Given the description of an element on the screen output the (x, y) to click on. 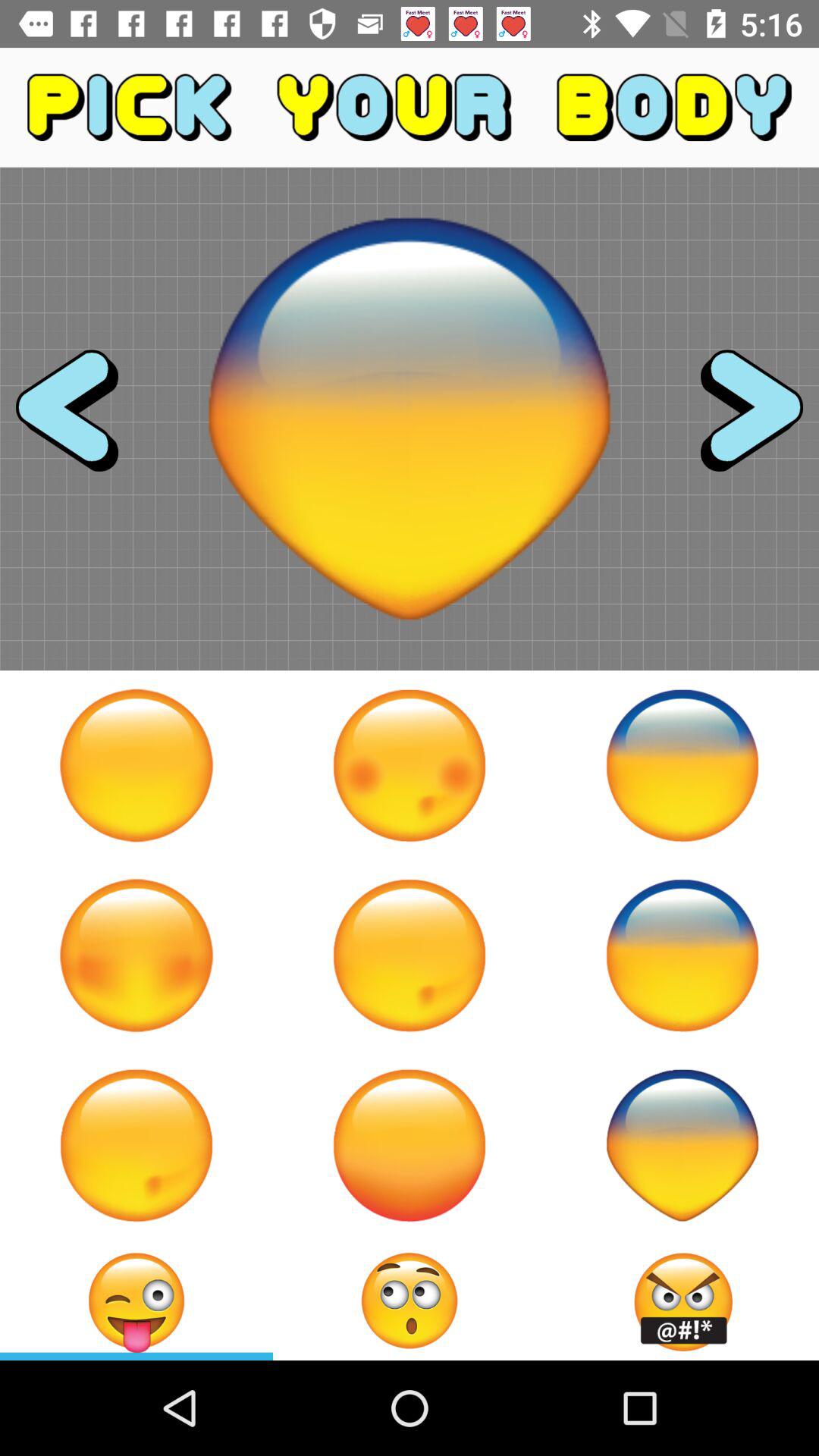
toggle emoji (682, 765)
